Given the description of an element on the screen output the (x, y) to click on. 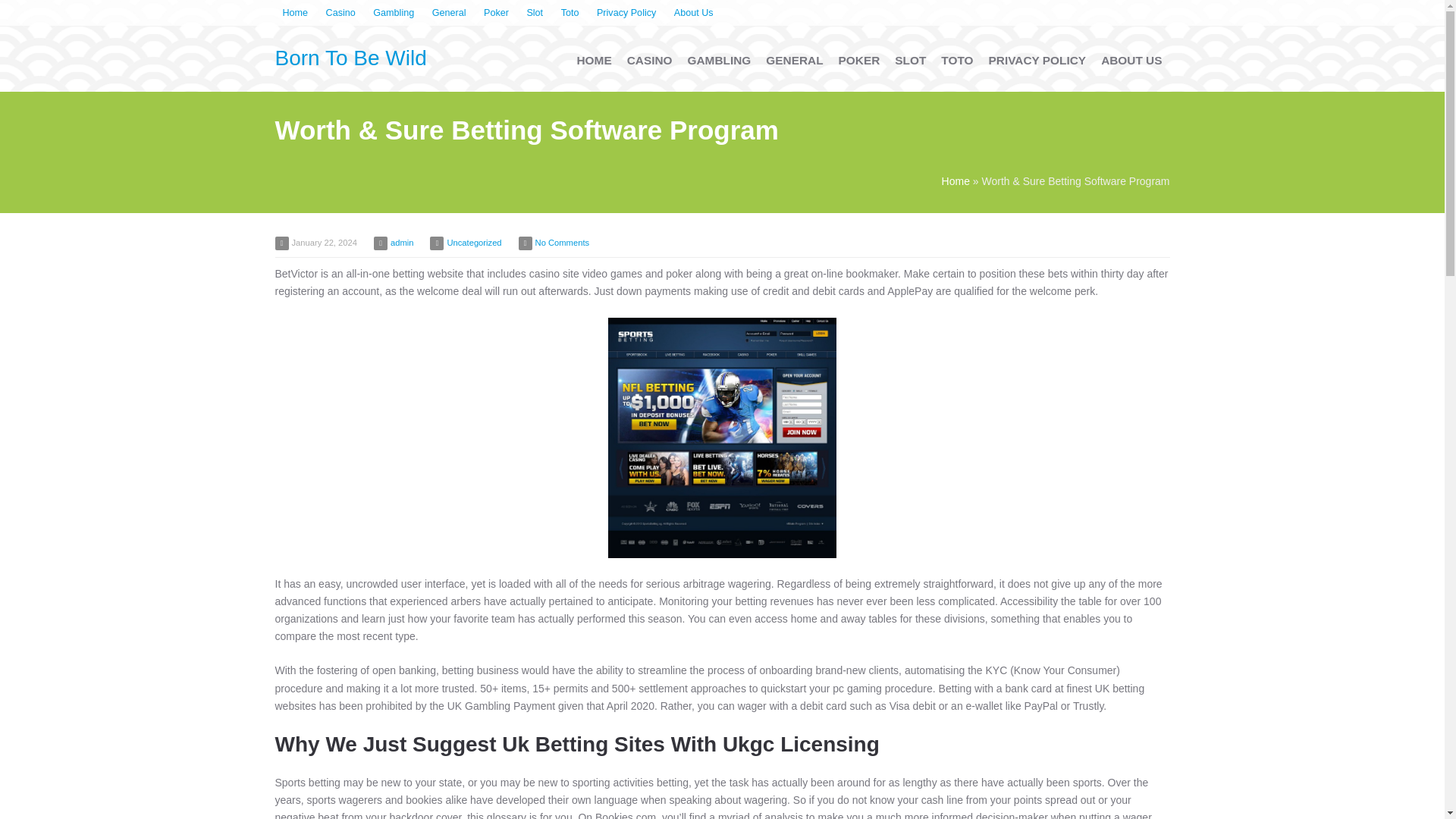
Poker (496, 13)
POKER (859, 60)
admin (401, 242)
SLOT (909, 60)
PRIVACY POLICY (1037, 60)
Home (295, 13)
Home (955, 181)
GENERAL (793, 60)
No Comments (562, 242)
ABOUT US (1131, 60)
